Given the description of an element on the screen output the (x, y) to click on. 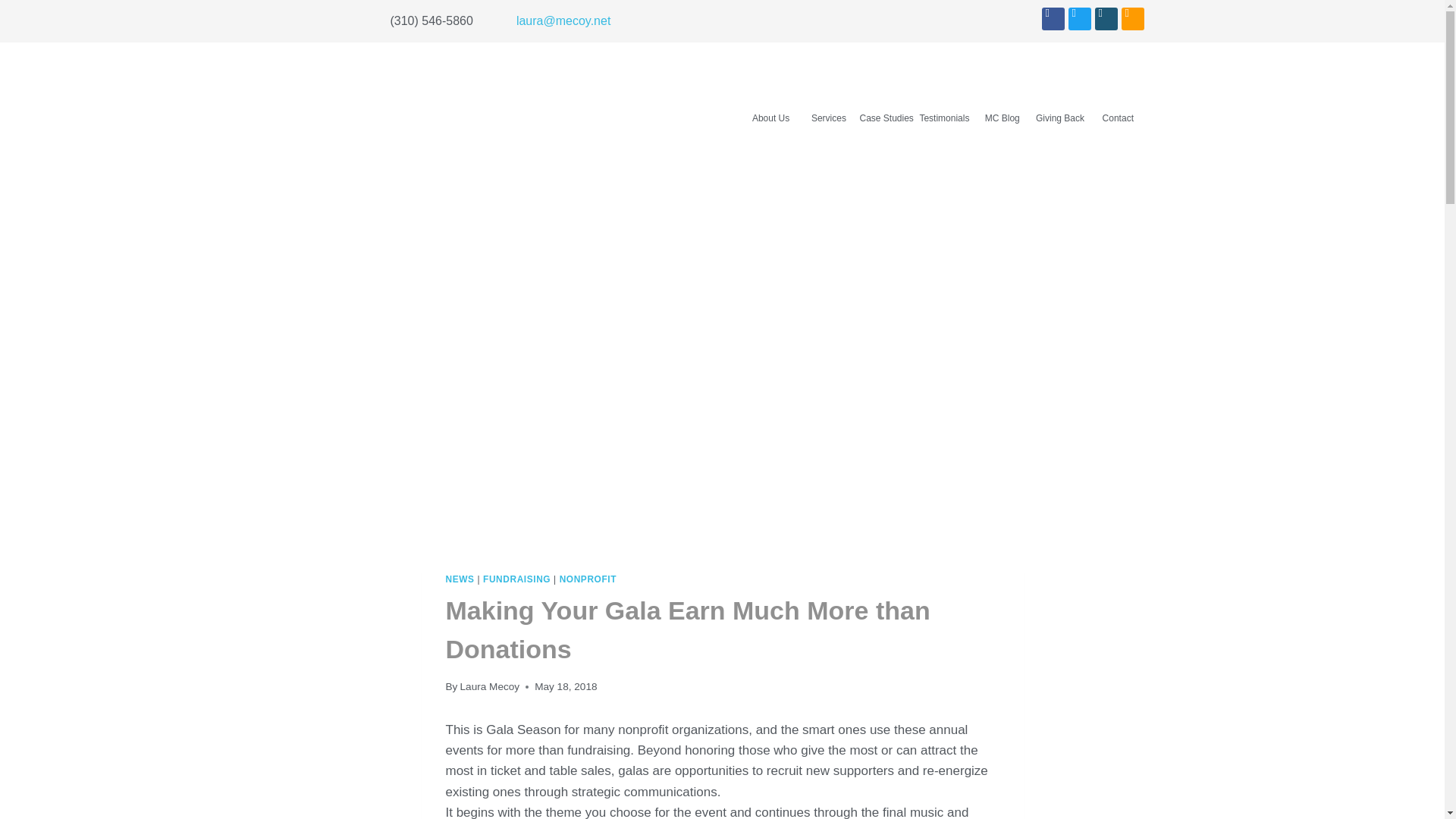
Laura Mecoy (489, 686)
NEWS (459, 579)
NONPROFIT (587, 579)
FUNDRAISING (516, 579)
